Given the description of an element on the screen output the (x, y) to click on. 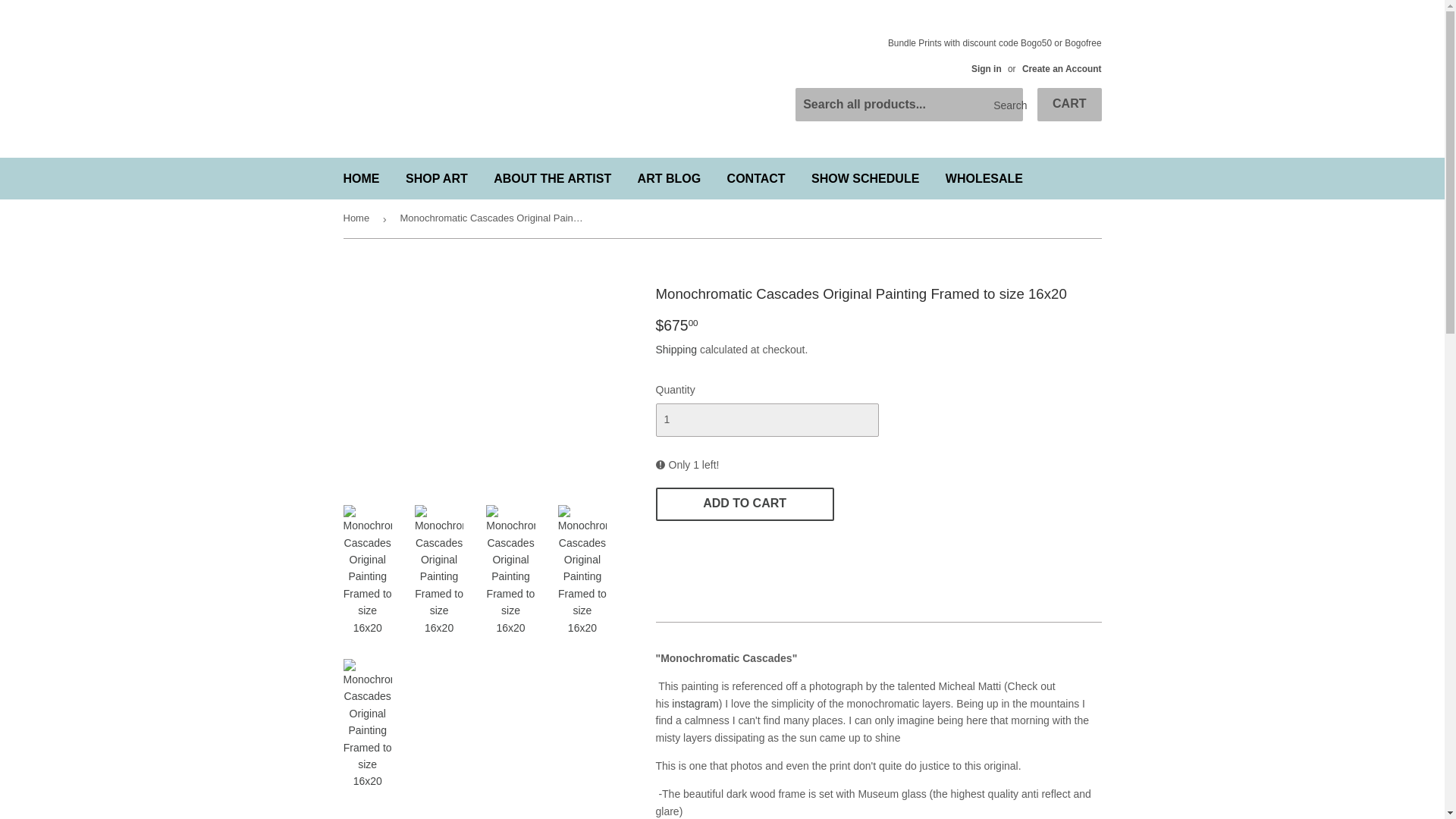
Create an Account (1062, 68)
1 (766, 419)
Search (1005, 105)
CART (1068, 104)
Sign in (986, 68)
